Given the description of an element on the screen output the (x, y) to click on. 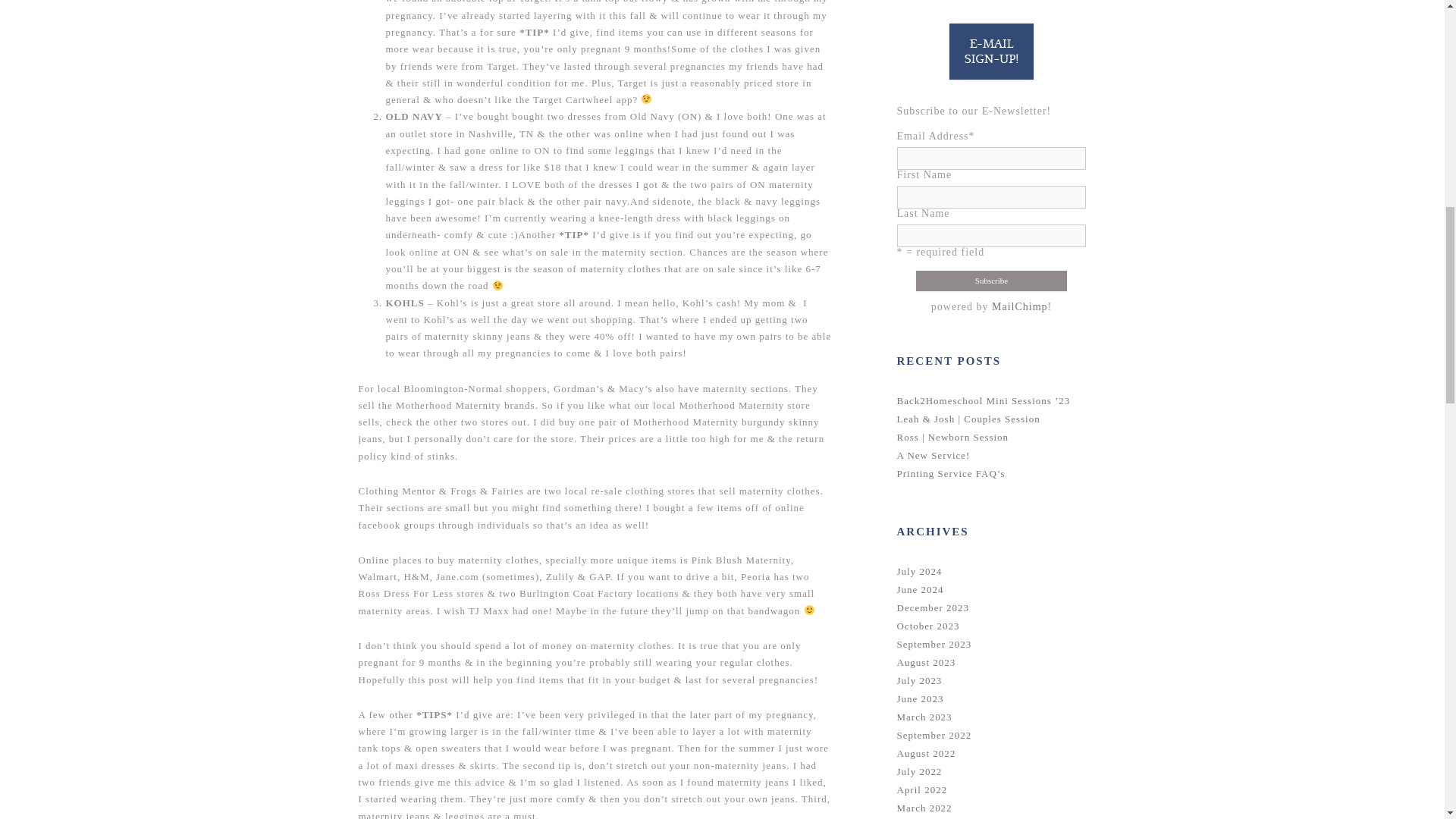
October 2023 (927, 625)
MailChimp (1019, 306)
Subscribe (991, 281)
July 2024 (919, 571)
June 2024 (919, 589)
A New Service! (932, 455)
Subscribe (991, 281)
December 2023 (932, 607)
